Given the description of an element on the screen output the (x, y) to click on. 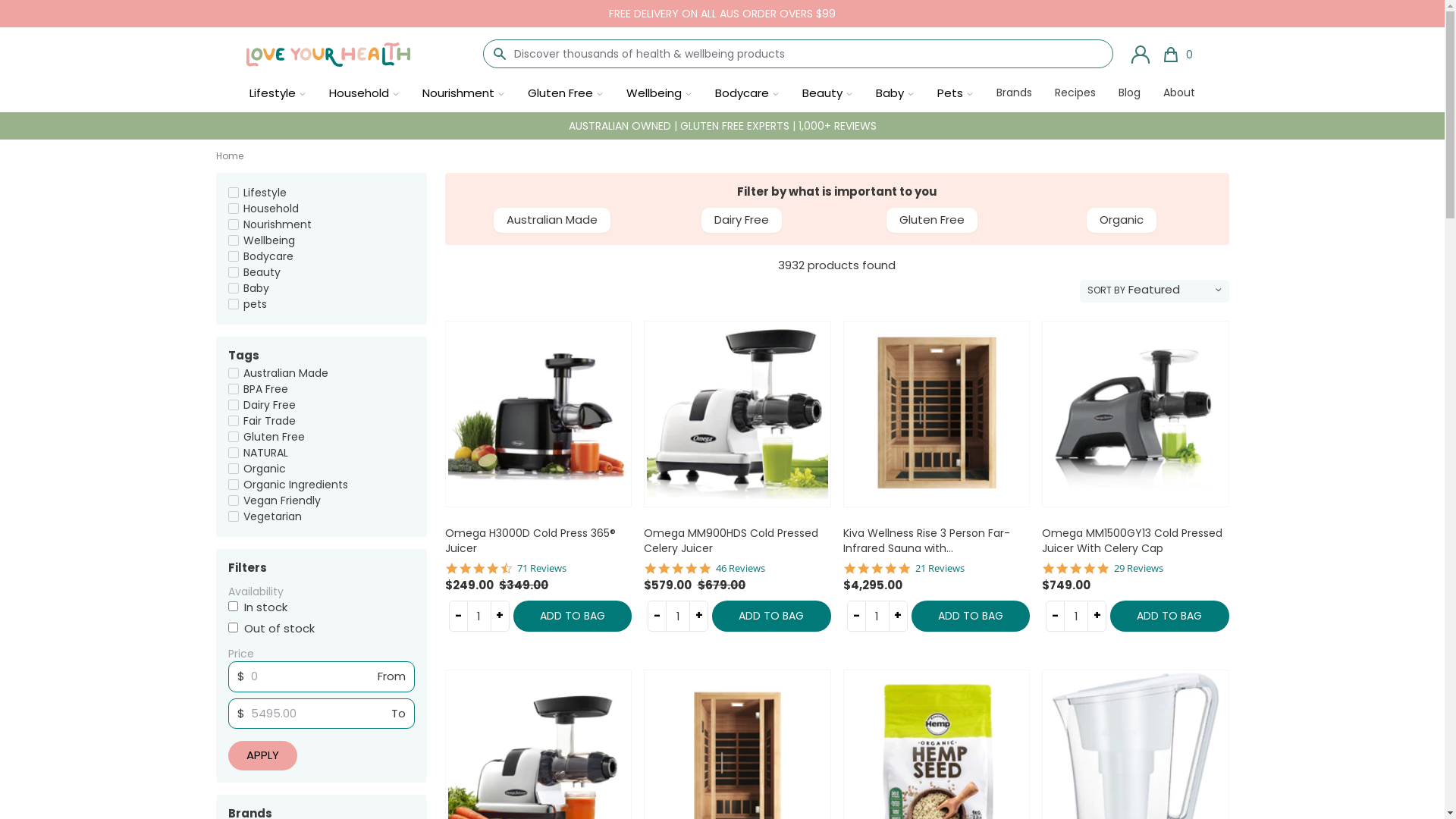
Bodycare Element type: text (747, 93)
Gluten Free Element type: text (931, 219)
pets Element type: text (254, 303)
Blog Element type: text (1129, 93)
- Element type: text (457, 615)
ADD TO BAG Element type: text (970, 615)
Household Element type: text (364, 93)
Nourishment Element type: text (277, 224)
46 Reviews Element type: text (740, 568)
Home Element type: text (228, 155)
Vegetarian Element type: text (272, 516)
Wellbeing Element type: text (659, 93)
- Element type: text (656, 615)
Lifestyle Element type: text (264, 192)
+ Element type: text (698, 615)
71 Reviews Element type: text (541, 568)
Wellbeing Element type: text (268, 239)
Apply Element type: text (261, 755)
Bodycare Element type: text (268, 255)
Fair Trade Element type: text (269, 420)
Pets Element type: text (955, 93)
21 Reviews Element type: text (939, 568)
+ Element type: text (897, 615)
Beauty Element type: text (261, 271)
Household Element type: text (270, 208)
Gluten Free Element type: text (273, 436)
Australian Made Element type: text (285, 372)
Omega MM900HDS Cold Pressed Celery Juicer Element type: text (736, 435)
Baby Element type: text (894, 93)
ADD TO BAG Element type: text (1169, 615)
NATURAL Element type: text (265, 452)
- Element type: text (856, 615)
ADD TO BAG Element type: text (771, 615)
Dairy Free Element type: text (269, 404)
- Element type: text (1054, 615)
Omega MM1500GY13 Cold Pressed Juicer With Celery Cap Element type: text (1134, 435)
BPA Free Element type: text (265, 388)
Vegan Friendly Element type: text (281, 500)
Baby Element type: text (256, 287)
Organic Ingredients Element type: text (295, 484)
Lifestyle Element type: text (276, 93)
Brands Element type: text (1014, 93)
Australian Made Element type: text (551, 219)
Organic Element type: text (264, 468)
Nourishment Element type: text (463, 93)
Dairy Free Element type: text (741, 219)
Gluten Free Element type: text (565, 93)
+ Element type: text (499, 615)
Organic Element type: text (1121, 219)
ADD TO BAG Element type: text (572, 615)
0
items in cart, view bag Element type: text (1176, 54)
29 Reviews Element type: text (1138, 568)
+ Element type: text (1096, 615)
Beauty Element type: text (827, 93)
About Element type: text (1179, 93)
Recipes Element type: text (1074, 93)
